Given the description of an element on the screen output the (x, y) to click on. 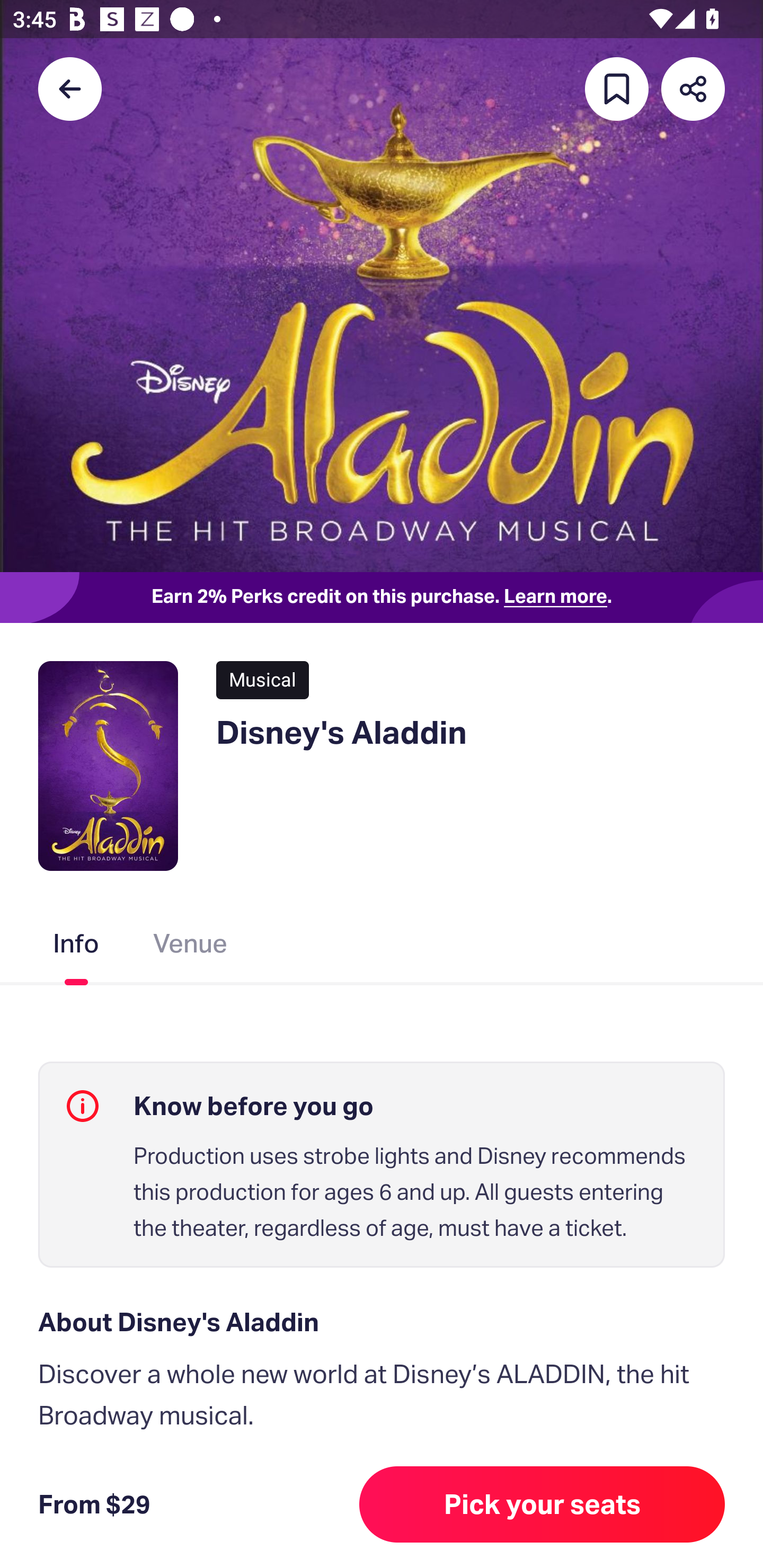
Earn 2% Perks credit on this purchase. Learn more. (381, 597)
Venue (190, 946)
About Disney's Aladdin (381, 1322)
Pick your seats (541, 1504)
